Given the description of an element on the screen output the (x, y) to click on. 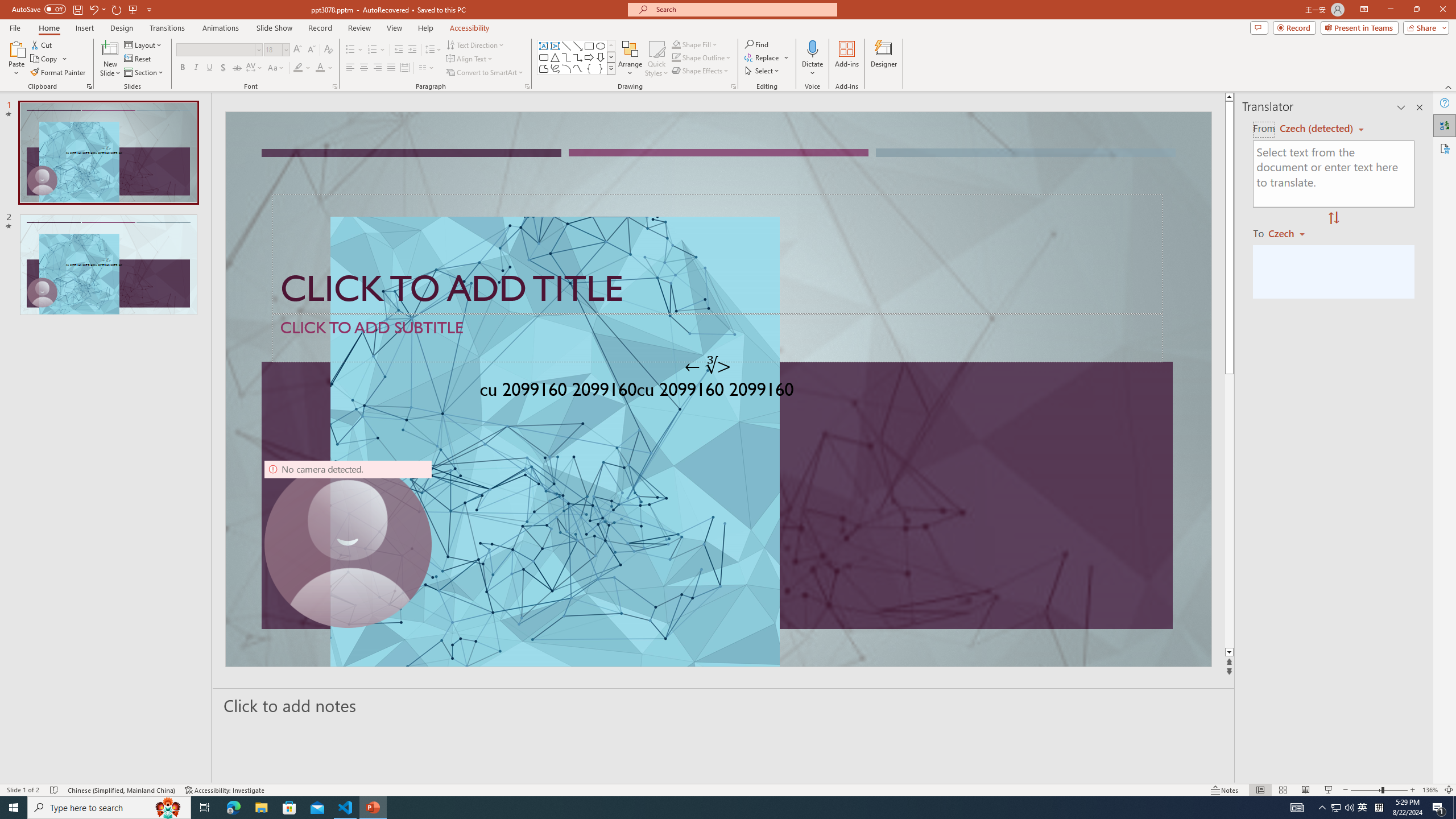
Vertical Text Box (554, 45)
Office Clipboard... (88, 85)
Font... (334, 85)
Text Box (543, 45)
Quick Styles (656, 58)
Isosceles Triangle (554, 57)
Shapes (611, 68)
Replace... (762, 56)
Decrease Font Size (310, 49)
Font Color Red (320, 67)
Text Direction (476, 44)
